Given the description of an element on the screen output the (x, y) to click on. 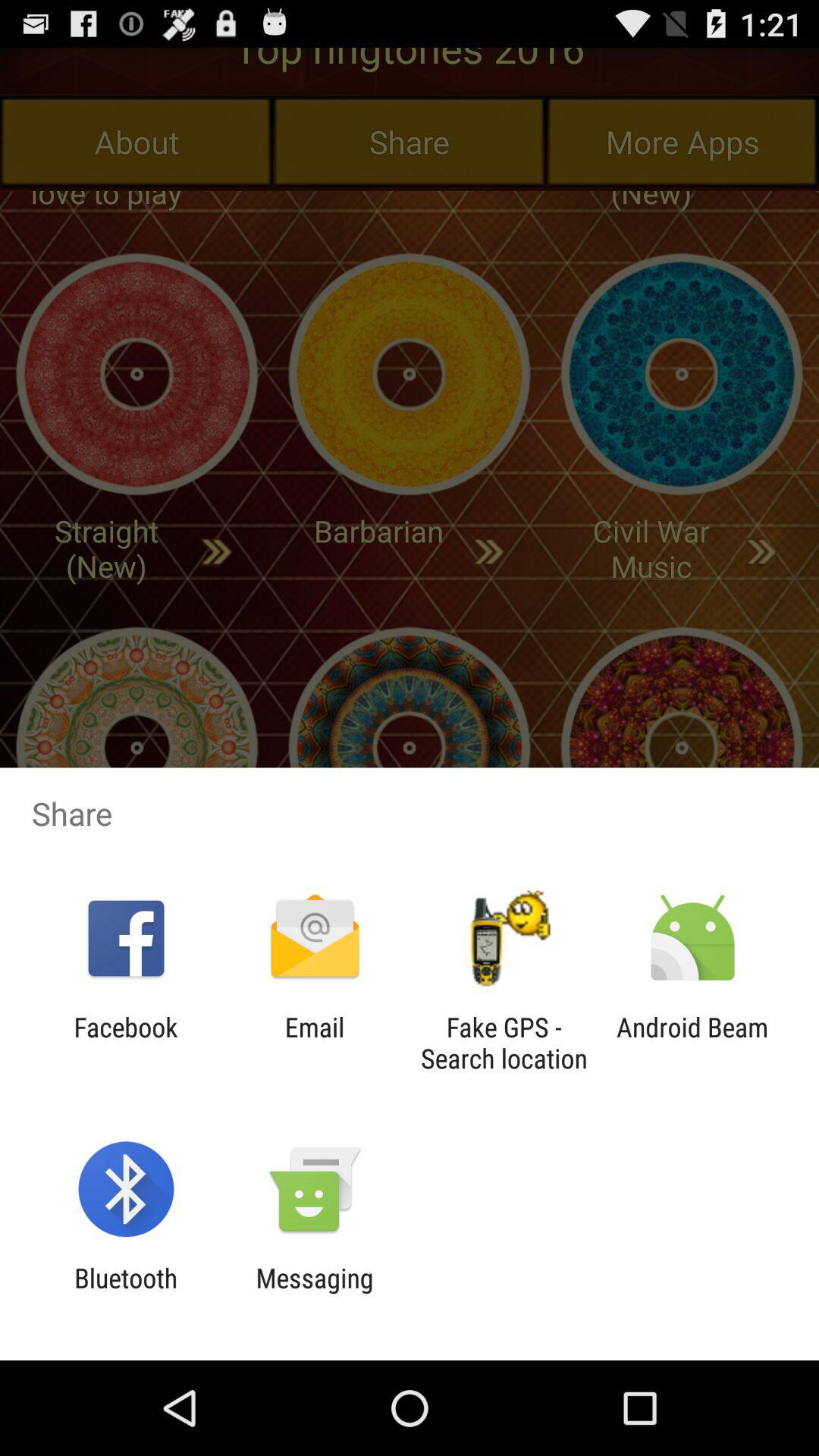
launch item to the left of the messaging (125, 1293)
